Given the description of an element on the screen output the (x, y) to click on. 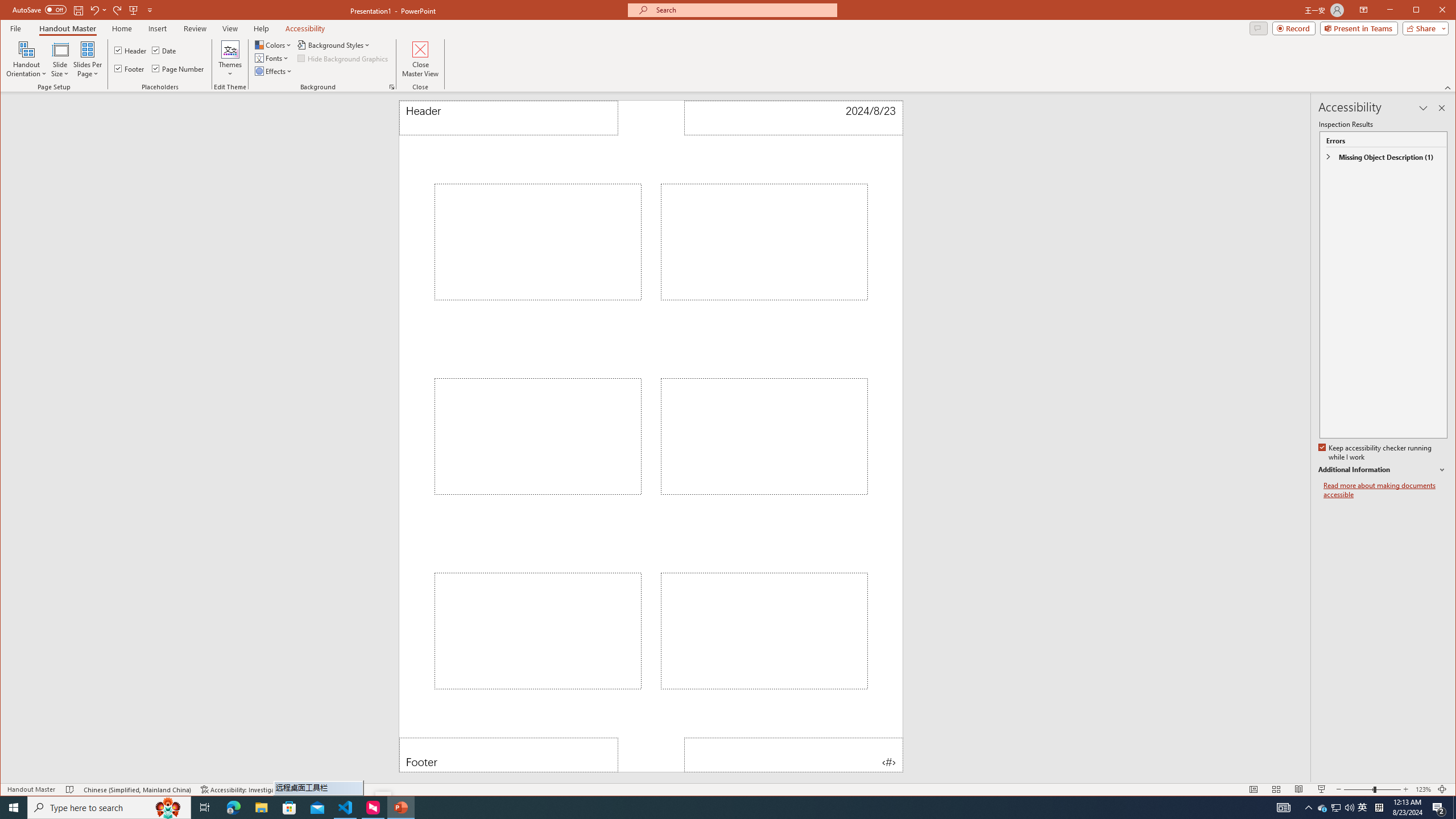
Search highlights icon opens search home window (167, 807)
Start (13, 807)
Slide Size (60, 59)
Close Master View (419, 59)
Q2790: 100% (1349, 807)
Action Center, 2 new notifications (1439, 807)
Footer (508, 754)
Themes (229, 59)
AutomationID: 4105 (1283, 807)
Footer (130, 68)
